Given the description of an element on the screen output the (x, y) to click on. 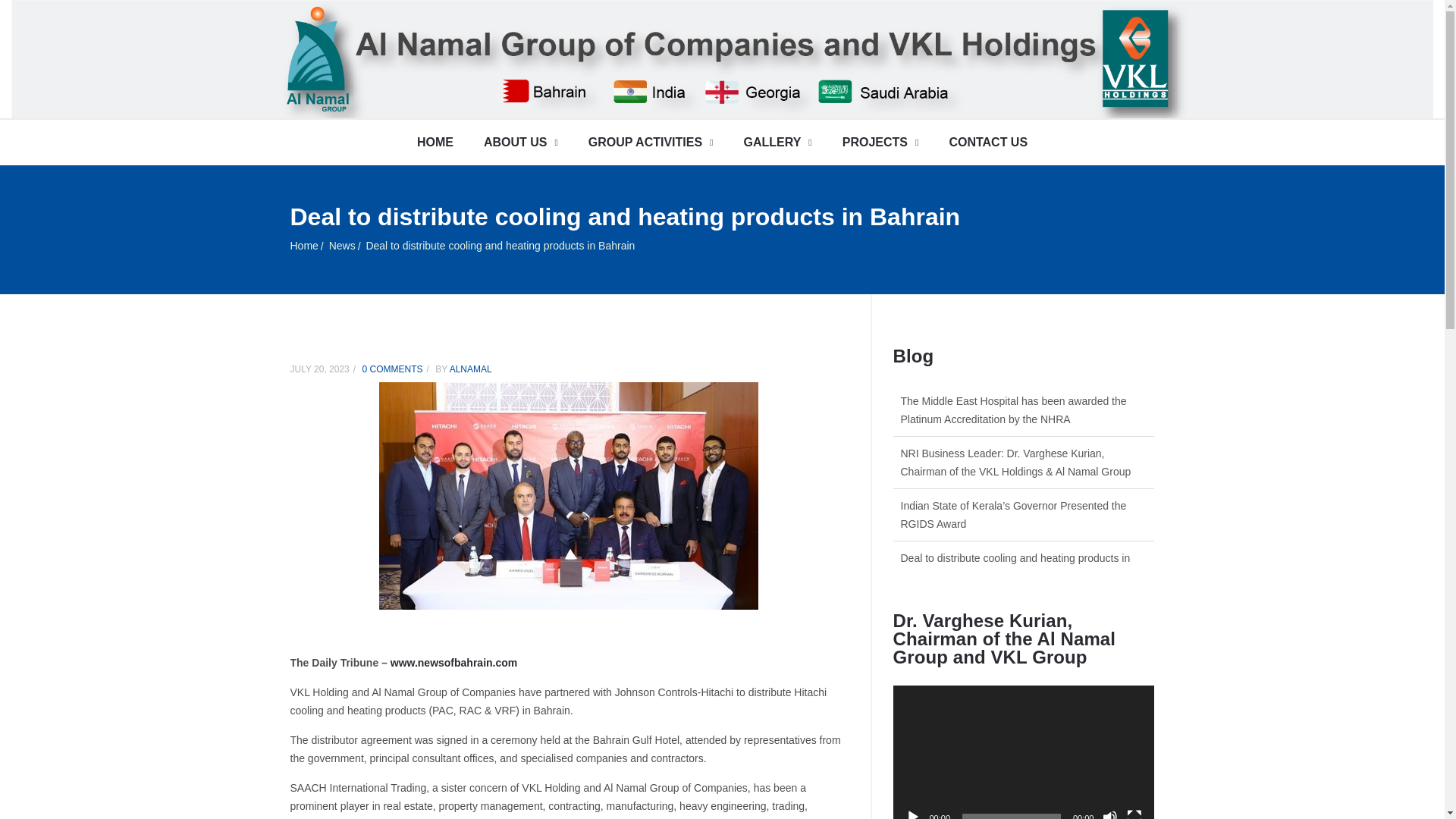
News (345, 245)
Play (912, 814)
Al Namal (599, 91)
VKL Builder (683, 89)
HOME (434, 142)
Gerogia Projects (762, 87)
PROJECTS (880, 142)
GROUP ACTIVITIES (651, 142)
ABOUT US (520, 142)
VKL Holdings and Al Namal Group of Companies (306, 245)
Saudi Project (864, 90)
GALLERY (777, 142)
